Given the description of an element on the screen output the (x, y) to click on. 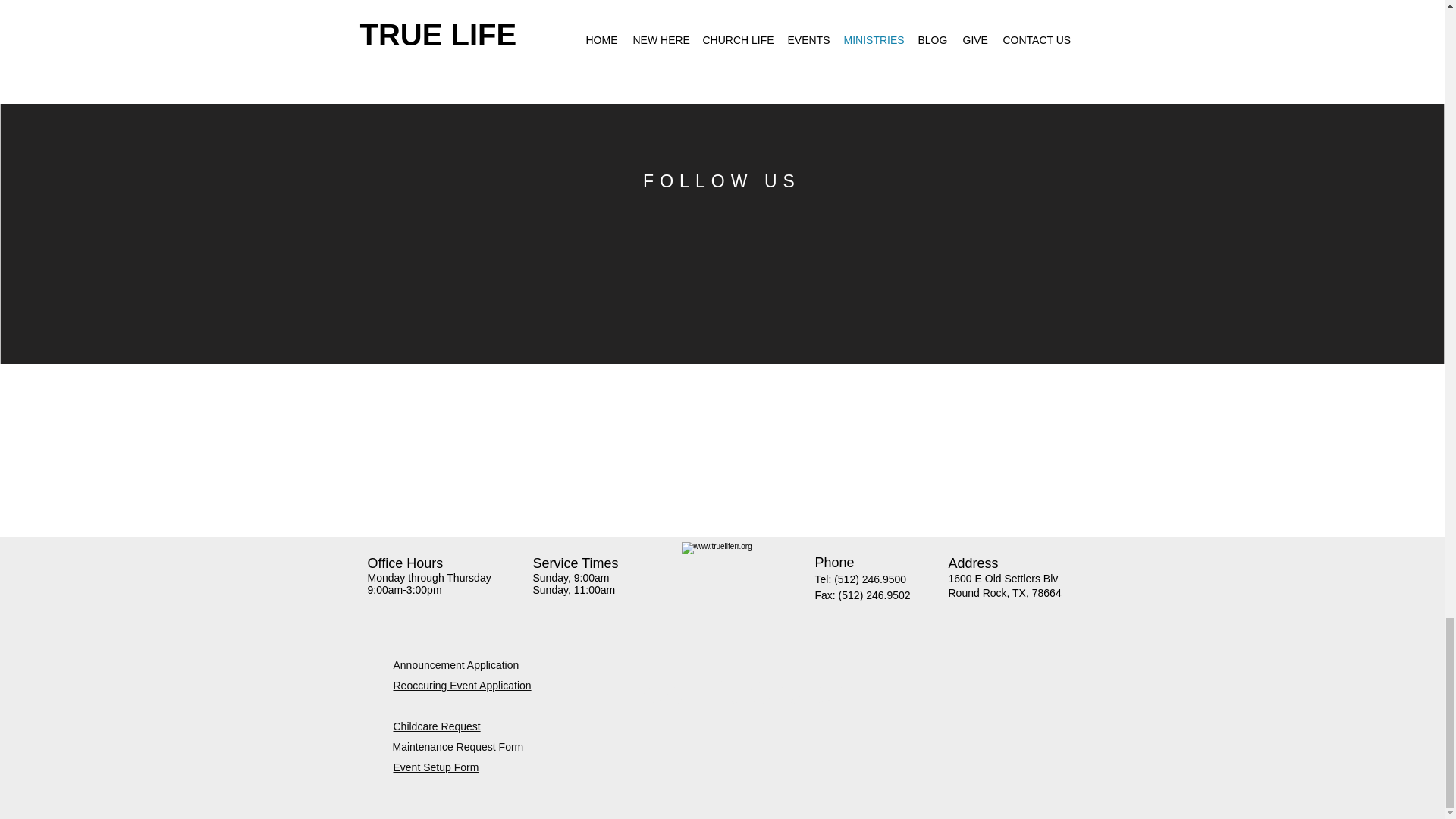
Event Setup Form (436, 767)
Childcare Request (436, 726)
Reoccuring Event Application (462, 685)
Announcement Application (455, 664)
Maintenance Request Form (458, 746)
